Given the description of an element on the screen output the (x, y) to click on. 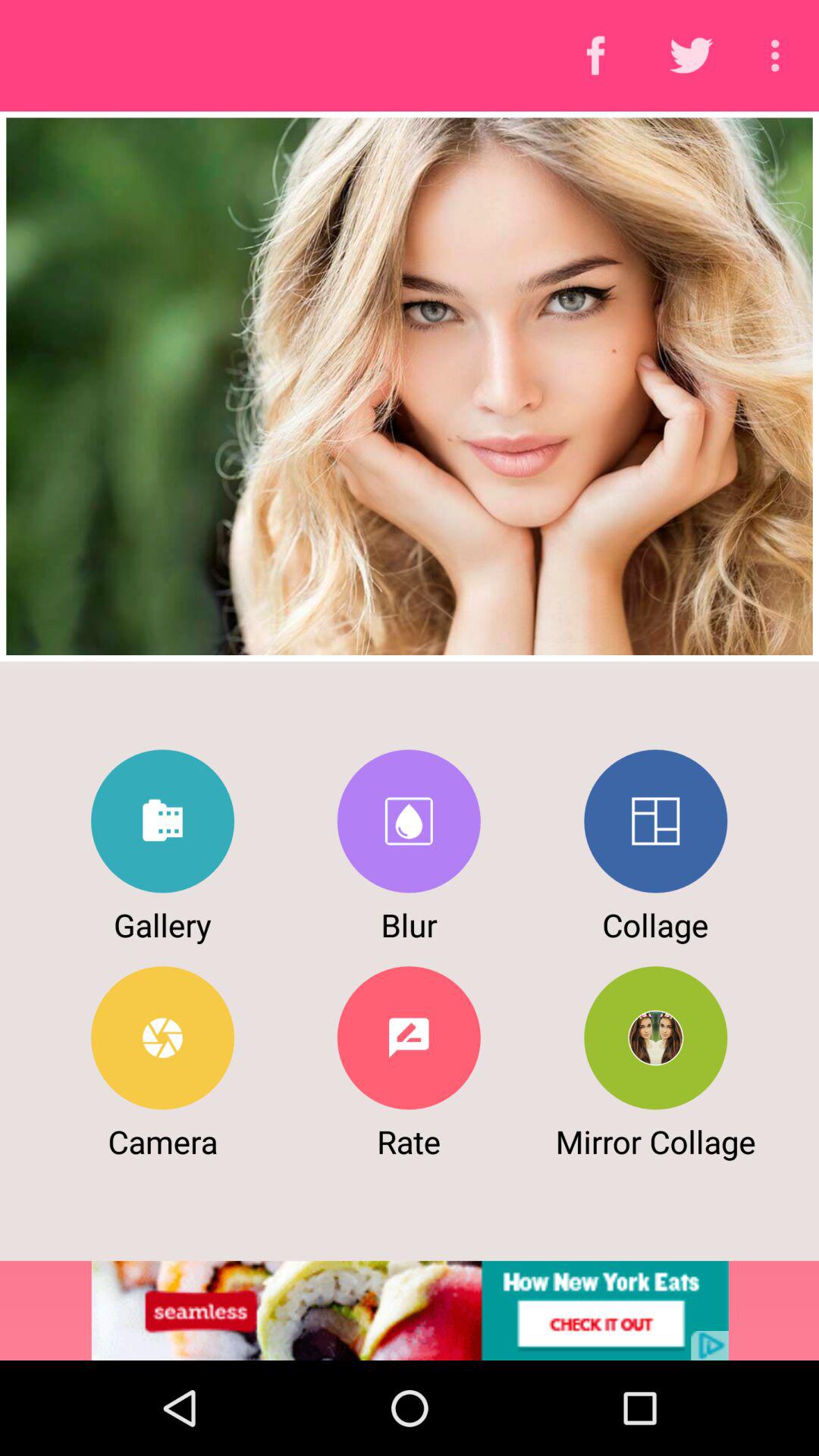
open camera tab (162, 1037)
